Given the description of an element on the screen output the (x, y) to click on. 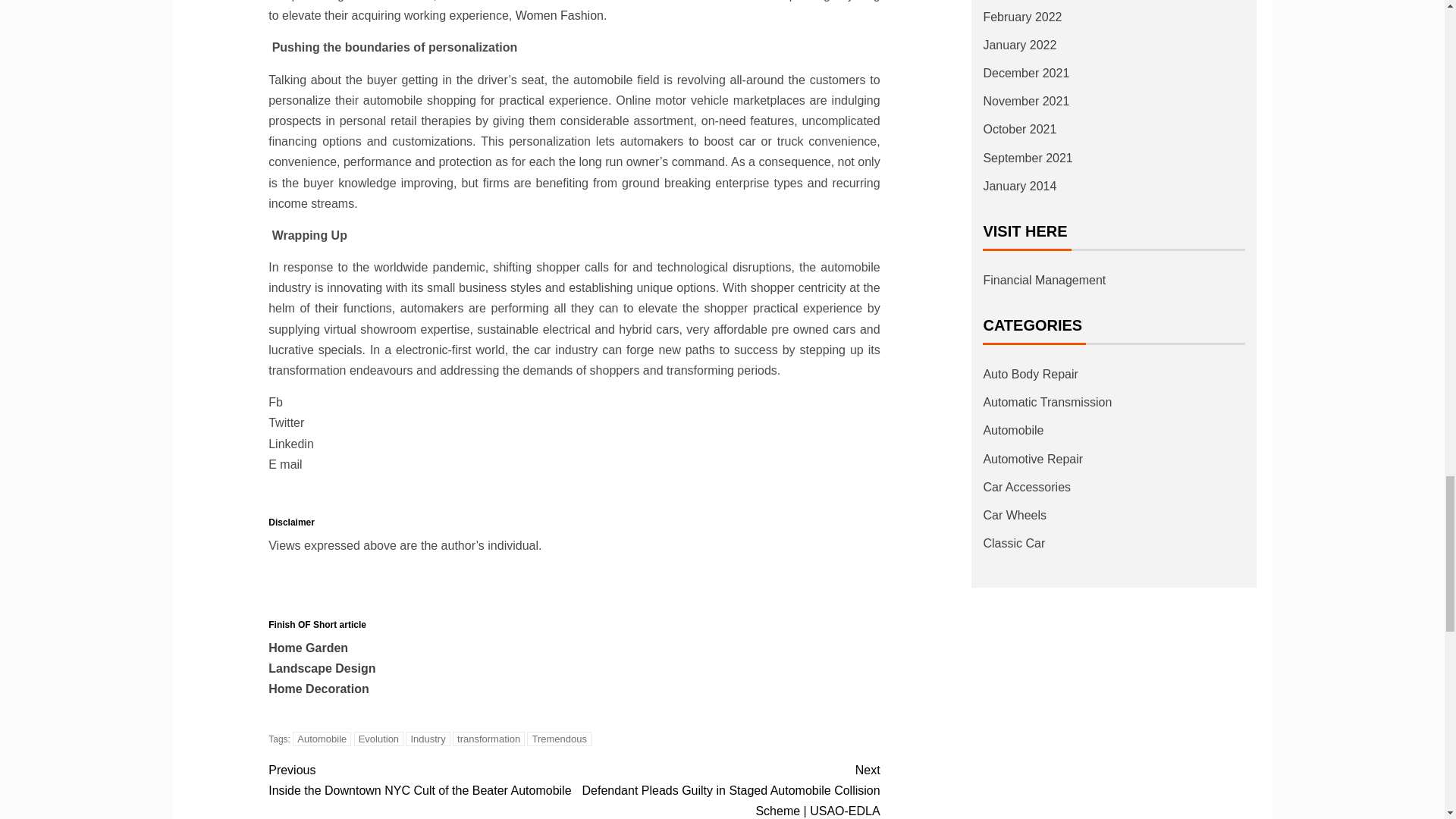
Industry (427, 739)
Women Fashion (559, 15)
Automobile (321, 739)
Landscape Design (321, 667)
Tremendous (559, 739)
Home Garden (307, 647)
Evolution (378, 739)
transformation (488, 739)
Home Decoration (317, 688)
